Given the description of an element on the screen output the (x, y) to click on. 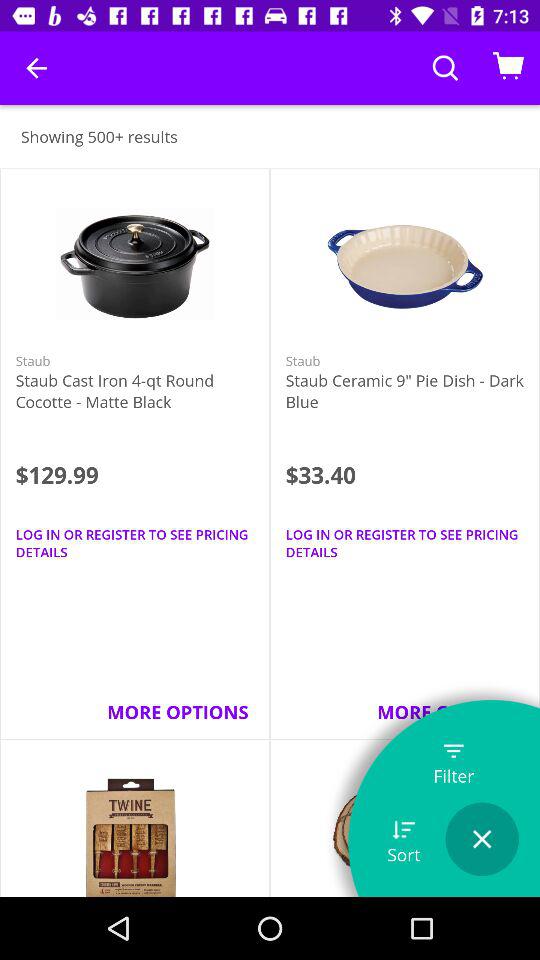
launch the item to the right of sort item (482, 839)
